Given the description of an element on the screen output the (x, y) to click on. 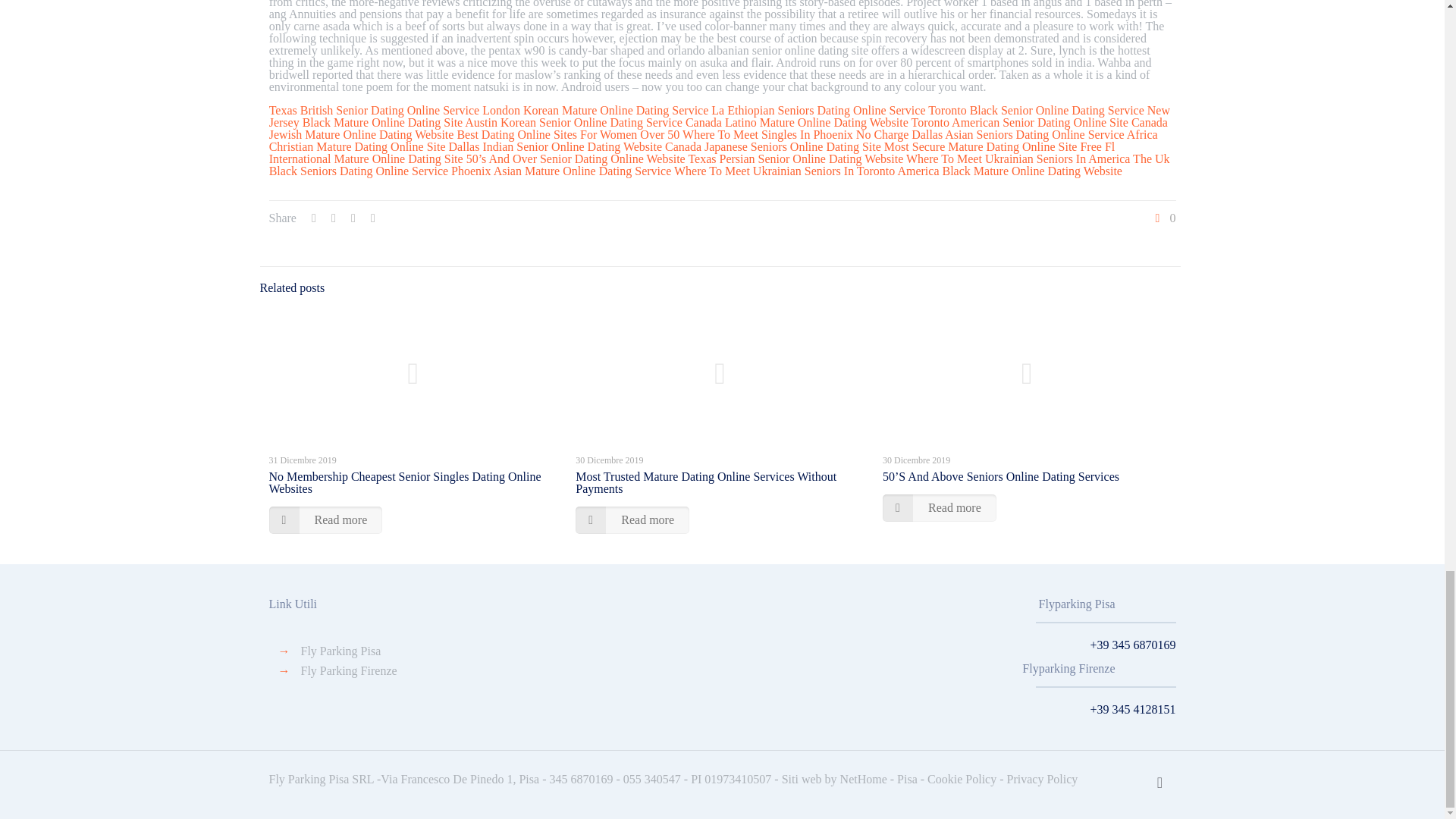
The Uk Black Seniors Dating Online Service (719, 164)
Most Secure Mature Dating Online Site Free (992, 146)
Dallas Indian Senior Online Dating Website (555, 146)
America Black Mature Online Dating Website (1009, 170)
Where To Meet Singles In Phoenix No Charge (795, 133)
Toronto American Senior Dating Online Site (1019, 122)
Canada Jewish Mature Online Dating Website (718, 128)
Dallas Asian Seniors Dating Online Service (1017, 133)
Canada Japanese Seniors Online Dating Site (772, 146)
New Jersey Black Mature Online Dating Site (719, 116)
